Given the description of an element on the screen output the (x, y) to click on. 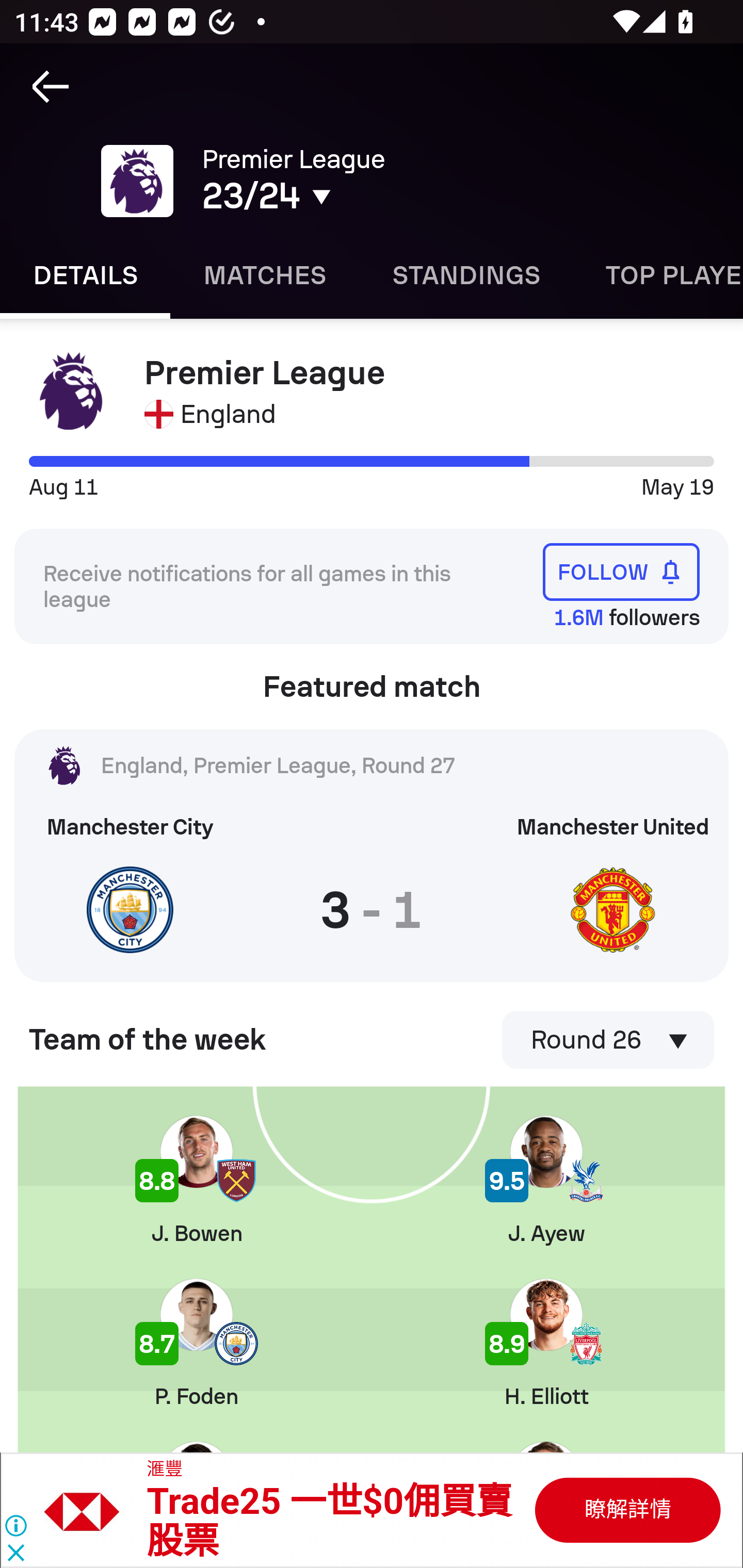
Navigate up (50, 86)
23/24 (350, 195)
Matches MATCHES (264, 275)
Standings STANDINGS (465, 275)
Top players TOP PLAYERS (657, 275)
FOLLOW (621, 571)
Round 26 (608, 1040)
J. Bowen (196, 1181)
J. Ayew (546, 1181)
P. Foden (196, 1343)
H. Elliott (546, 1343)
滙豐 (164, 1469)
B31525787 (92, 1509)
B31525787 (626, 1509)
Trade25 一世$0佣買賣 股票 Trade25 一世$0佣買賣 股票 (328, 1521)
